Given the description of an element on the screen output the (x, y) to click on. 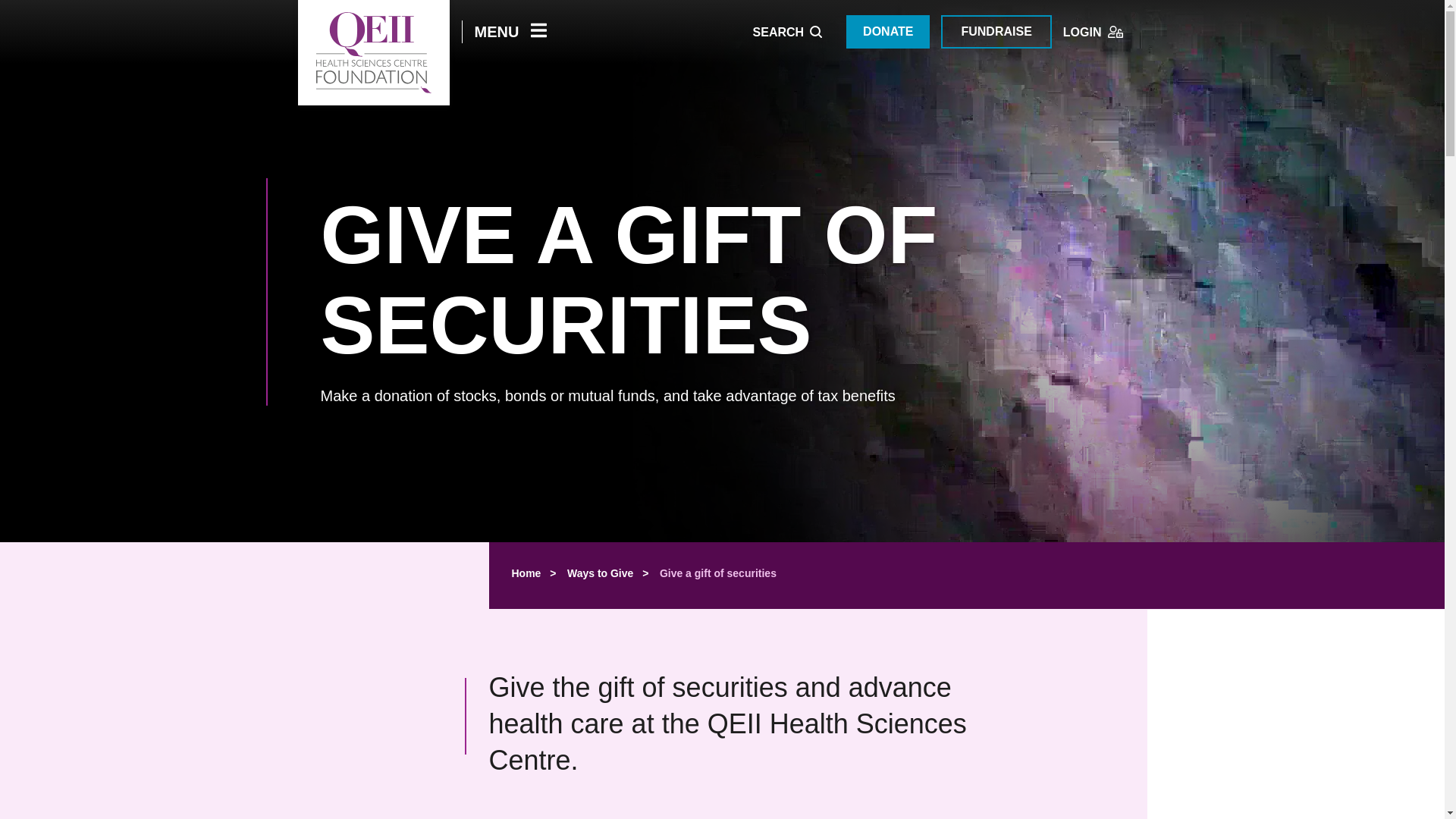
Fundraise (995, 31)
DONATE (887, 31)
LOGIN (1092, 31)
MENU (510, 31)
Donate (887, 31)
Search (787, 31)
Login (1092, 31)
SEARCH (787, 31)
FUNDRAISE (995, 31)
